Given the description of an element on the screen output the (x, y) to click on. 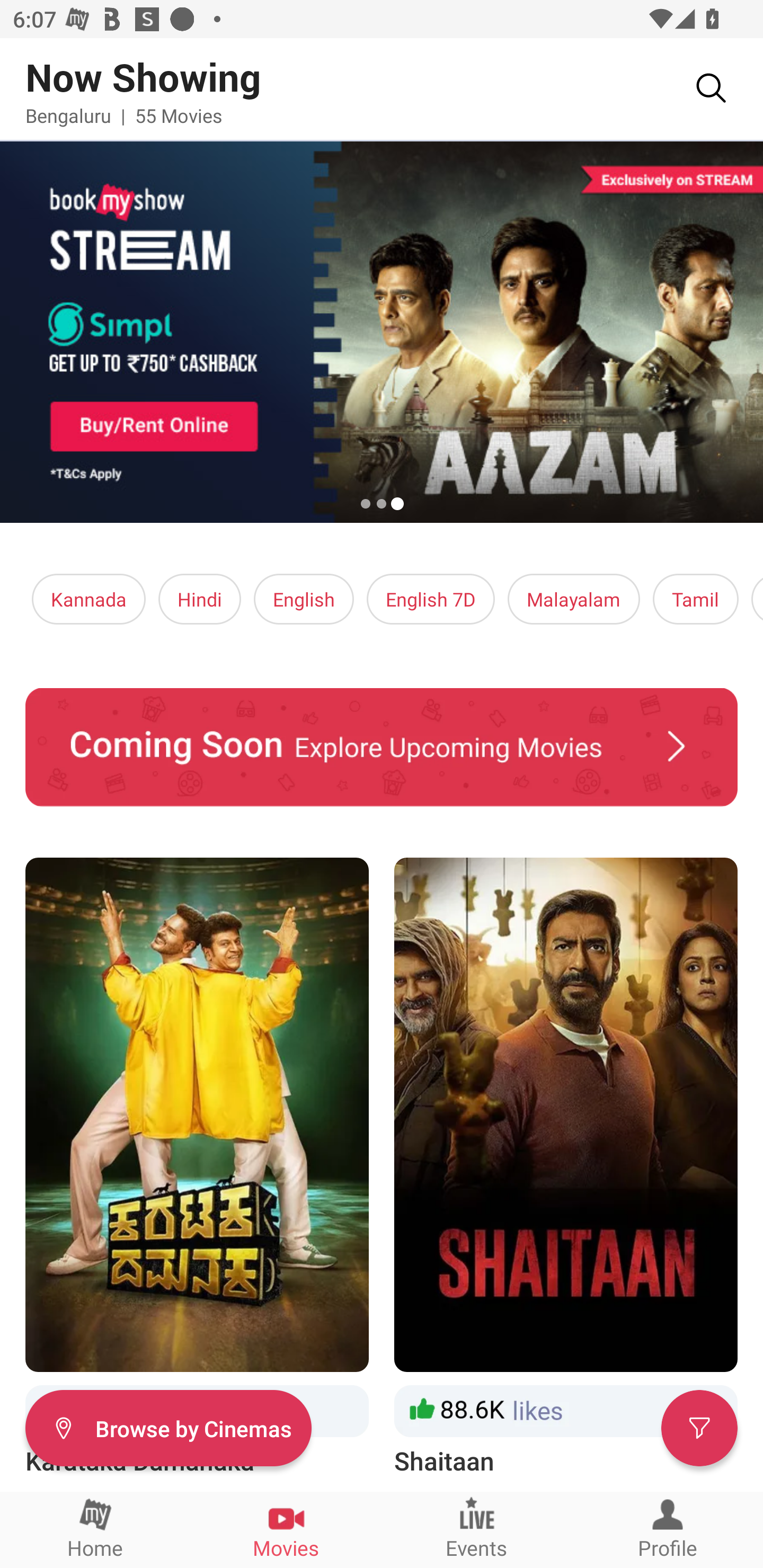
Bengaluru  |  55 Movies (123, 114)
Kannada (88, 598)
Hindi (199, 598)
English (304, 598)
English 7D (431, 598)
Malayalam (573, 598)
Tamil (695, 598)
Karataka Damanaka (196, 1167)
Shaitaan (565, 1167)
Filter Browse by Cinemas (168, 1427)
Filter (699, 1427)
Home (95, 1529)
Movies (285, 1529)
Events (476, 1529)
Profile (667, 1529)
